Given the description of an element on the screen output the (x, y) to click on. 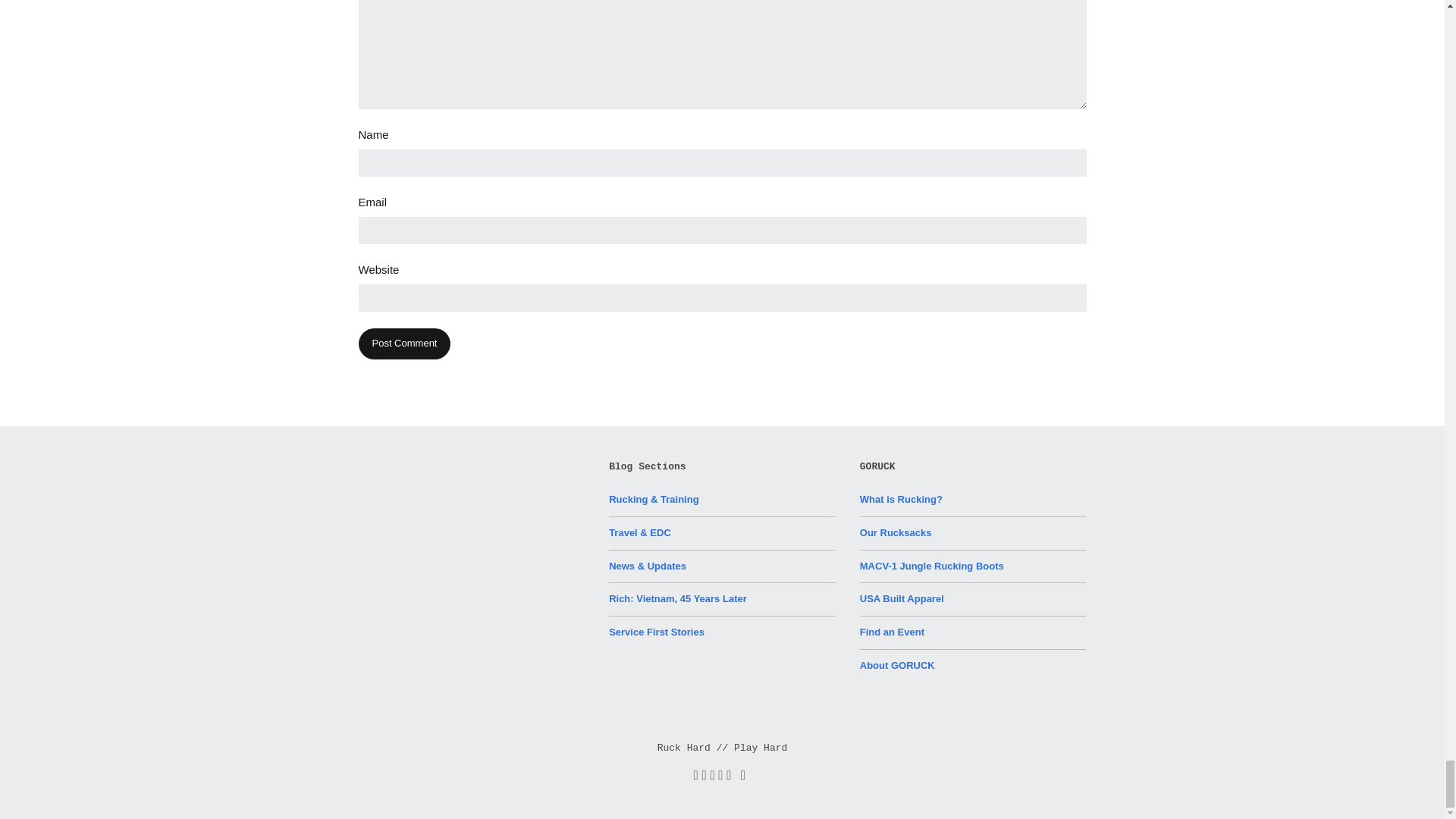
USA Built Apparel (901, 598)
MACV-1 Jungle Rucking Boots (932, 565)
Post Comment (403, 343)
Service First Stories (656, 632)
Post Comment (403, 343)
Our Rucksacks (895, 532)
Rich: Vietnam, 45 Years Later (677, 598)
What is Rucking? (901, 499)
About GORUCK (897, 665)
Find an Event (892, 632)
